Given the description of an element on the screen output the (x, y) to click on. 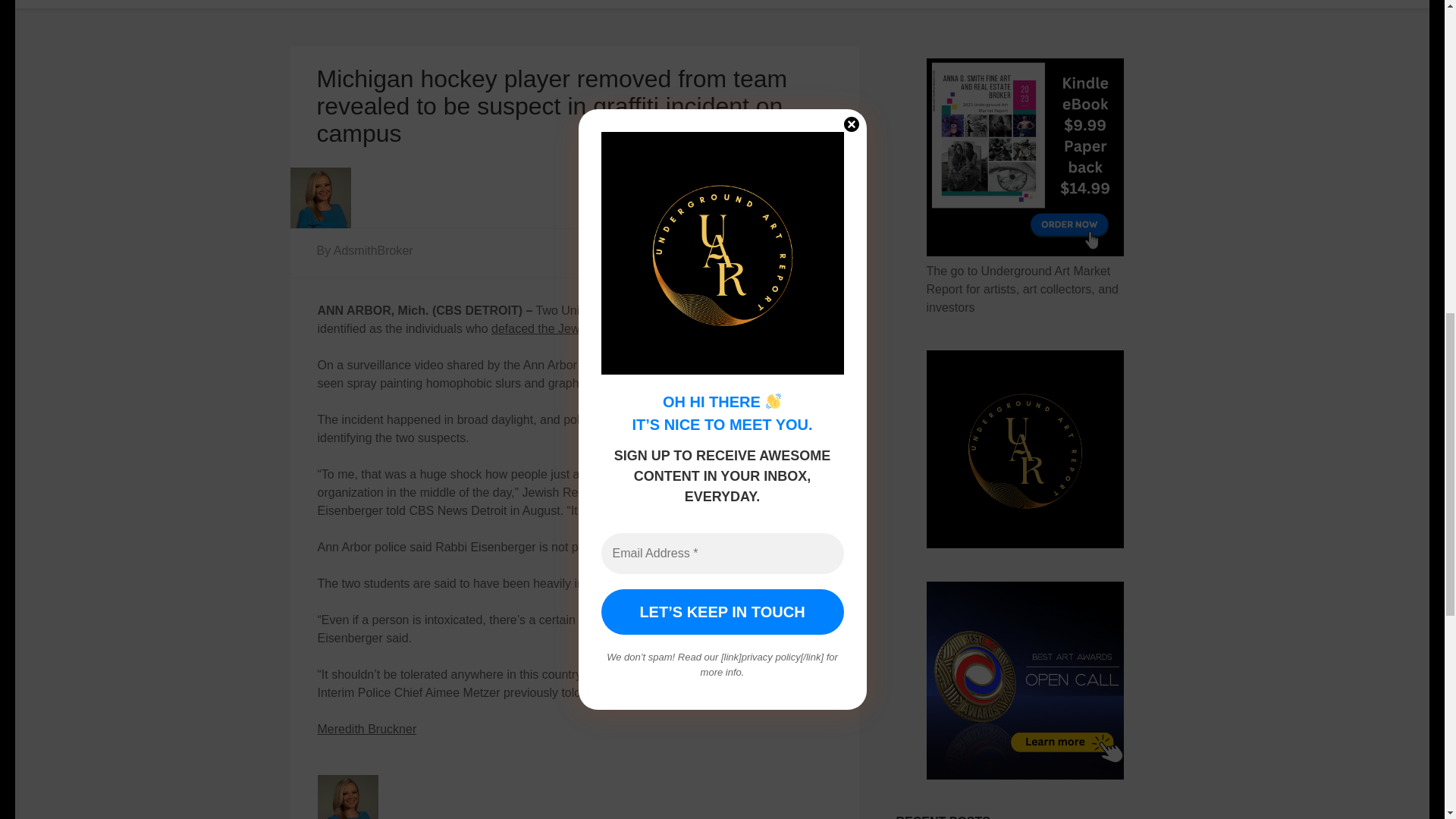
Meredith Bruckner (366, 728)
October 2, 2023 (780, 250)
AdsmithBroker (373, 250)
defaced the Jewish Resource Center (591, 328)
